Given the description of an element on the screen output the (x, y) to click on. 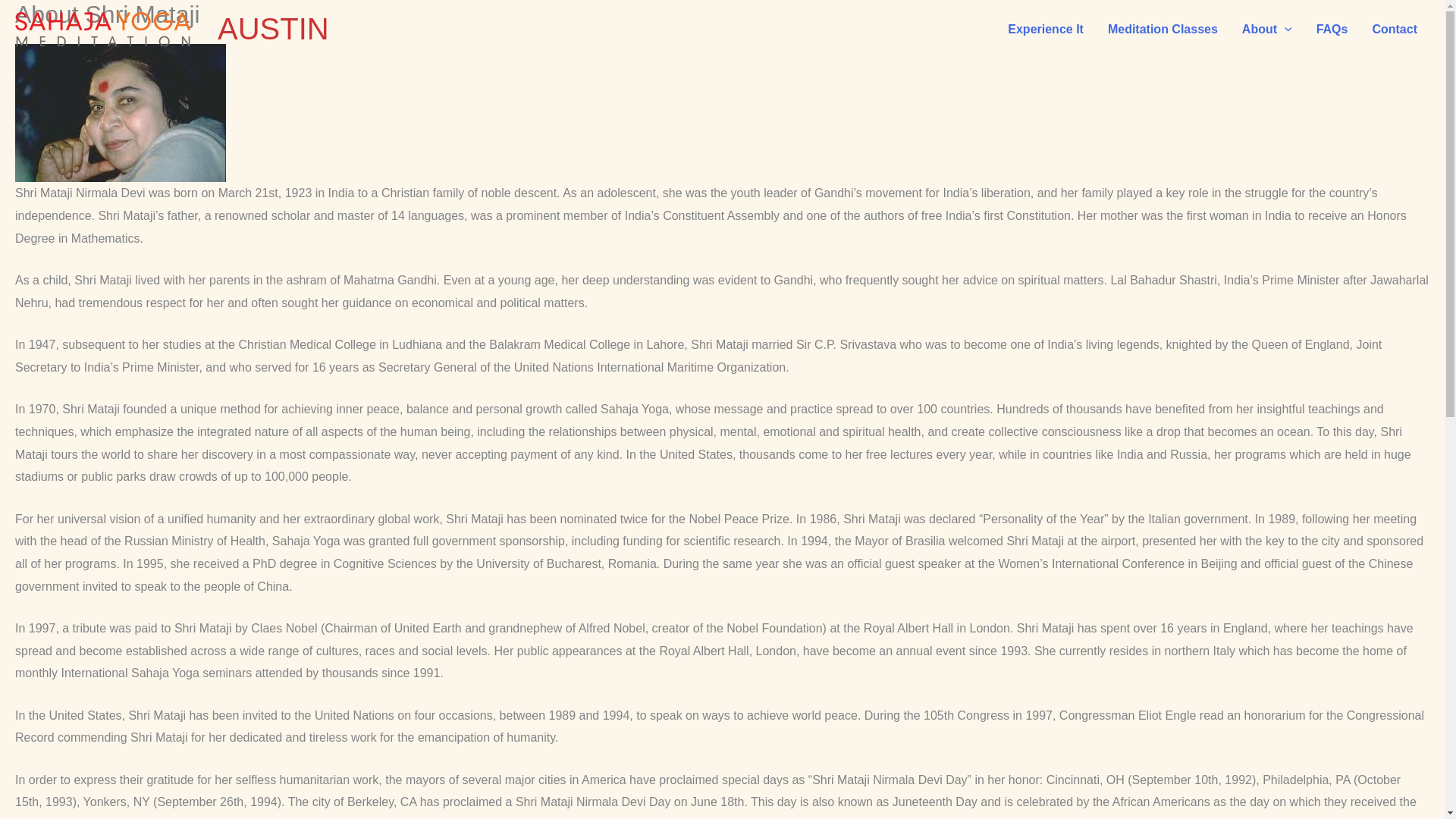
Contact (1394, 29)
About (1267, 29)
Meditation Classes (1163, 29)
FAQs (1331, 29)
Experience It (1045, 29)
